Given the description of an element on the screen output the (x, y) to click on. 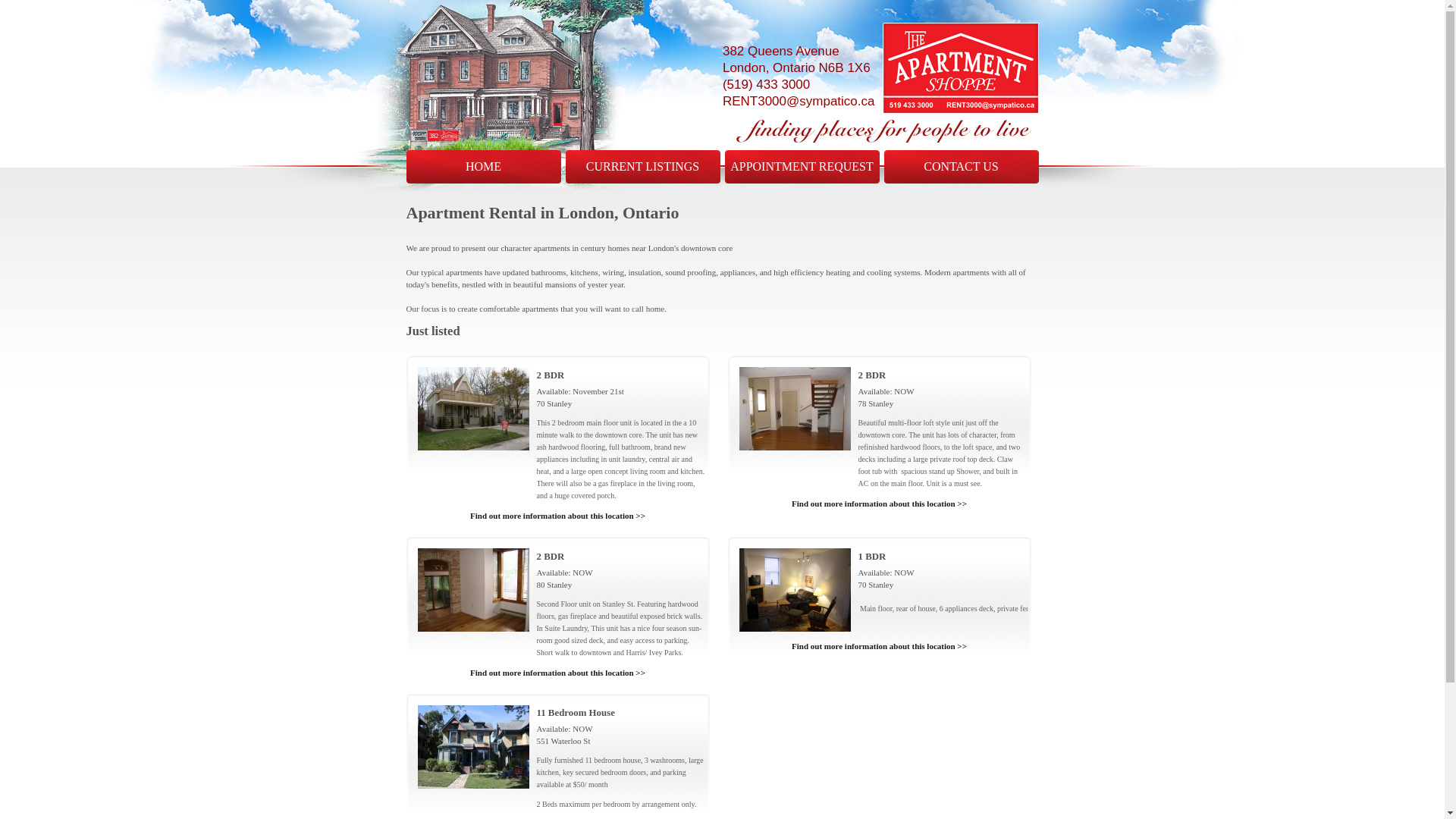
Find out more information about this location >> Element type: text (878, 646)
Apartment Shoppe Element type: hover (960, 67)
APPOINTMENT REQUEST Element type: text (801, 166)
Find out more information about this location >> Element type: text (878, 503)
Find out more information about this location >> Element type: text (557, 672)
HOME Element type: text (483, 166)
Find out more information about this location >> Element type: text (557, 515)
CURRENT LISTINGS Element type: text (642, 166)
CONTACT US Element type: text (961, 166)
